Given the description of an element on the screen output the (x, y) to click on. 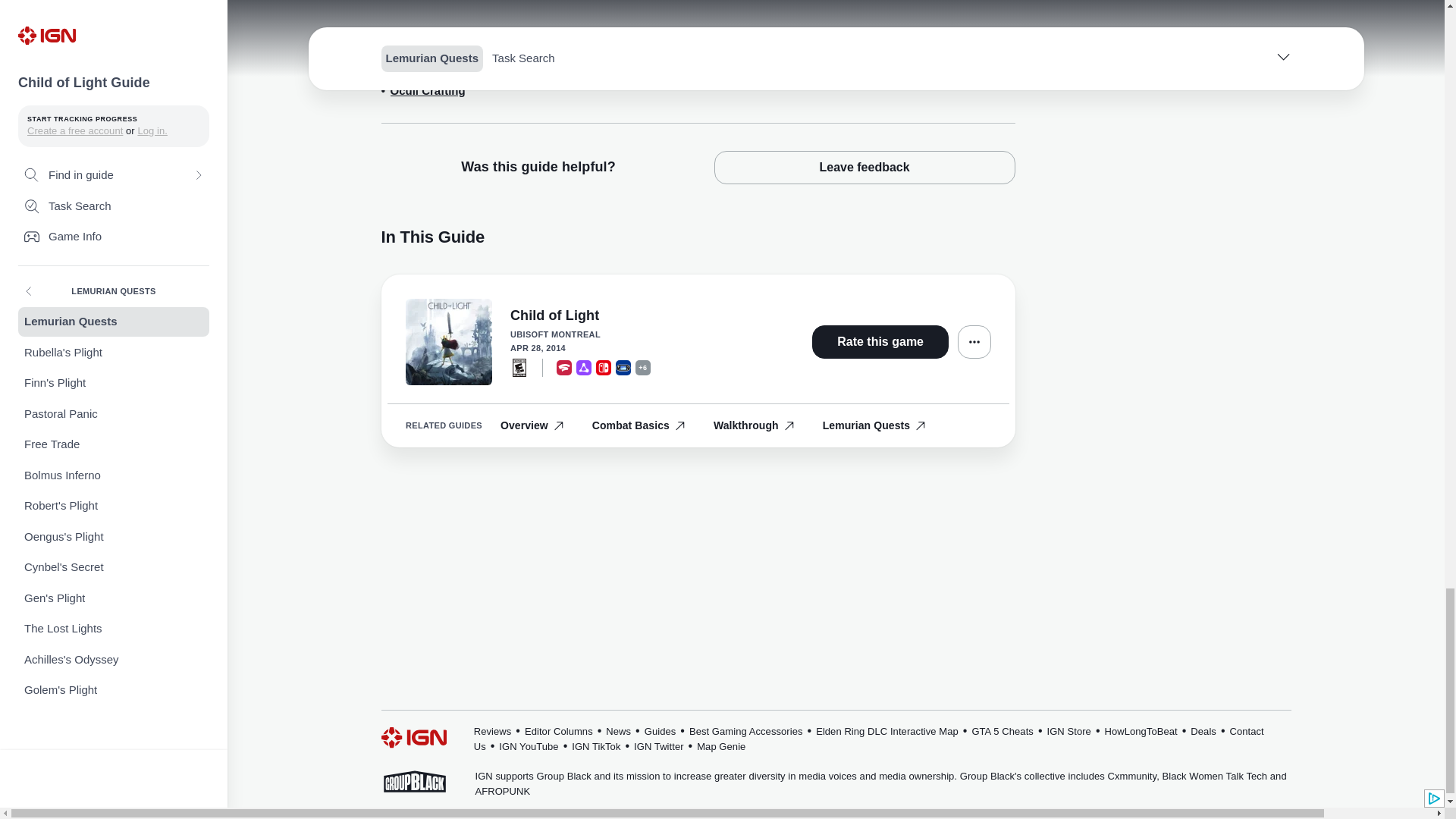
Stadia (564, 367)
Luna (583, 367)
Nintendo Switch (603, 367)
PlayStation Vita (622, 367)
